Given the description of an element on the screen output the (x, y) to click on. 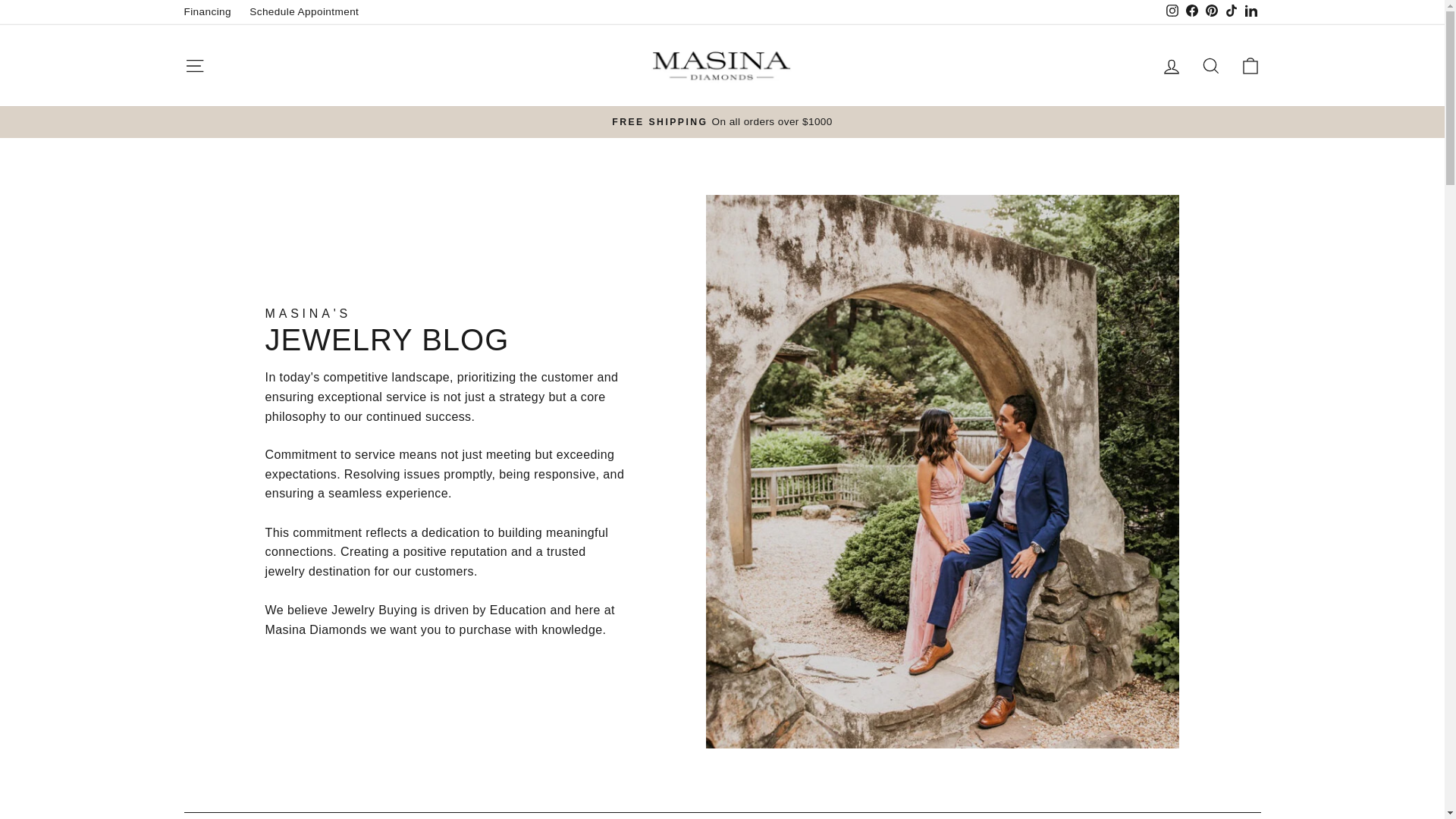
ICON-HAMBURGER (194, 65)
ICON-SEARCH (1210, 65)
ACCOUNT (1170, 66)
ICON-BAG-MINIMAL (1249, 65)
instagram (1171, 10)
